Given the description of an element on the screen output the (x, y) to click on. 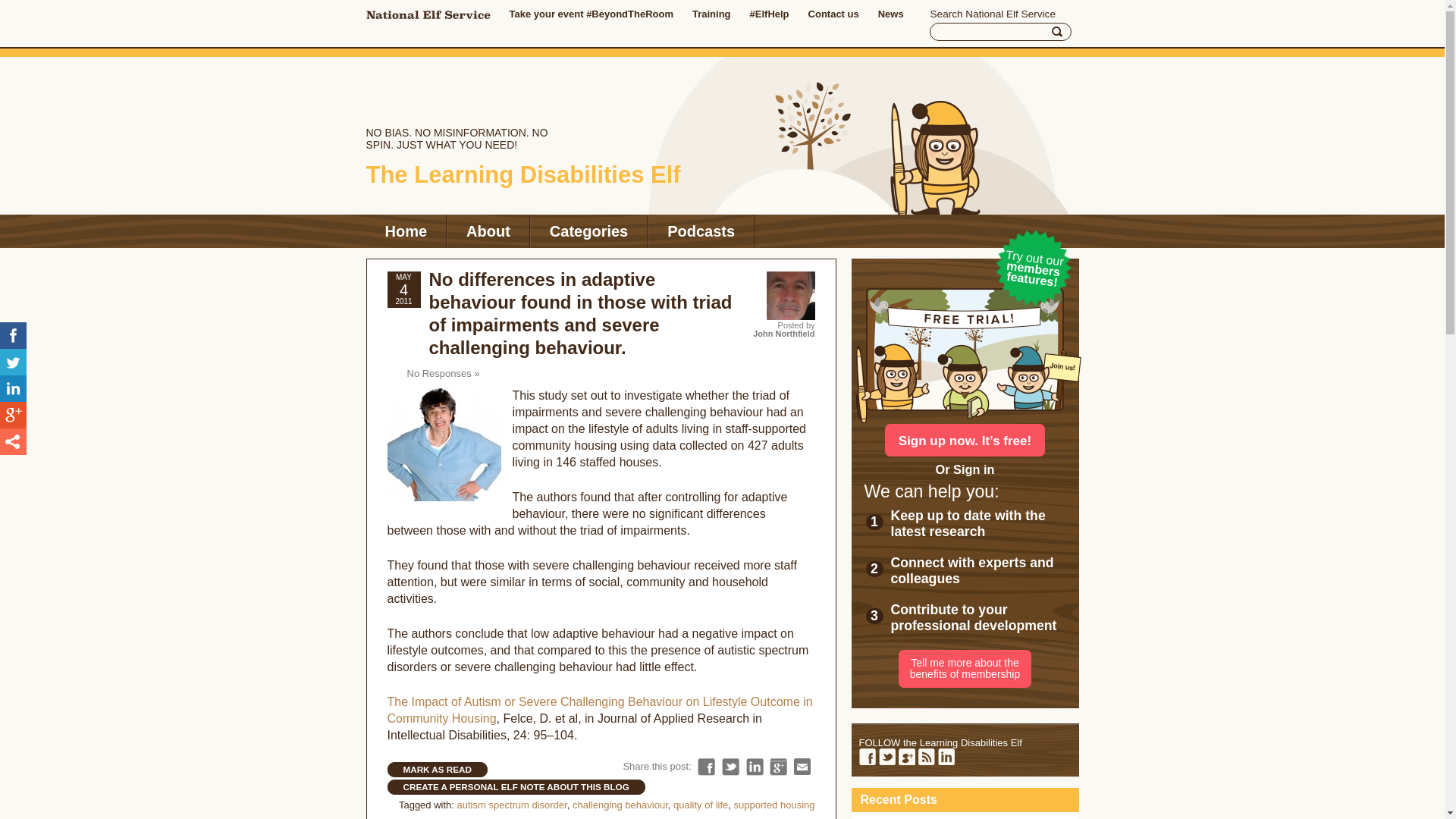
About (487, 231)
Share via email (801, 766)
Contact us (833, 13)
Share on Facebook (705, 766)
Share on LinkedIn (753, 766)
Categories (588, 231)
Tweet this on Twitter (13, 361)
Follow us on Twitter (886, 756)
Find us on Facebook (867, 756)
Share on LinkedIn (13, 388)
Share on Facebook (13, 335)
Share via sharethis (13, 441)
Training (711, 13)
Search (1057, 31)
